Given the description of an element on the screen output the (x, y) to click on. 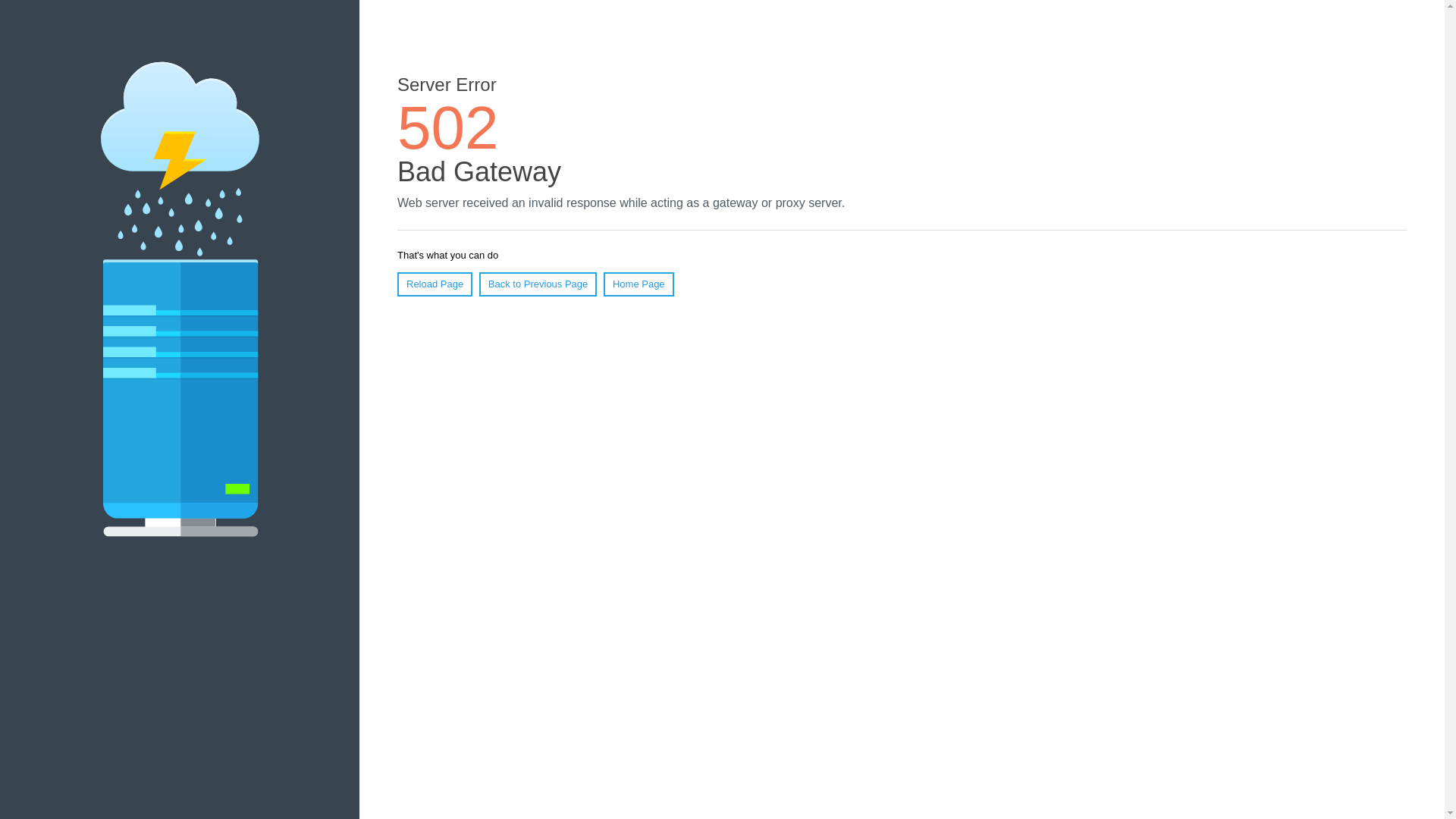
Home Page (639, 283)
Reload Page (434, 283)
Back to Previous Page (537, 283)
